Given the description of an element on the screen output the (x, y) to click on. 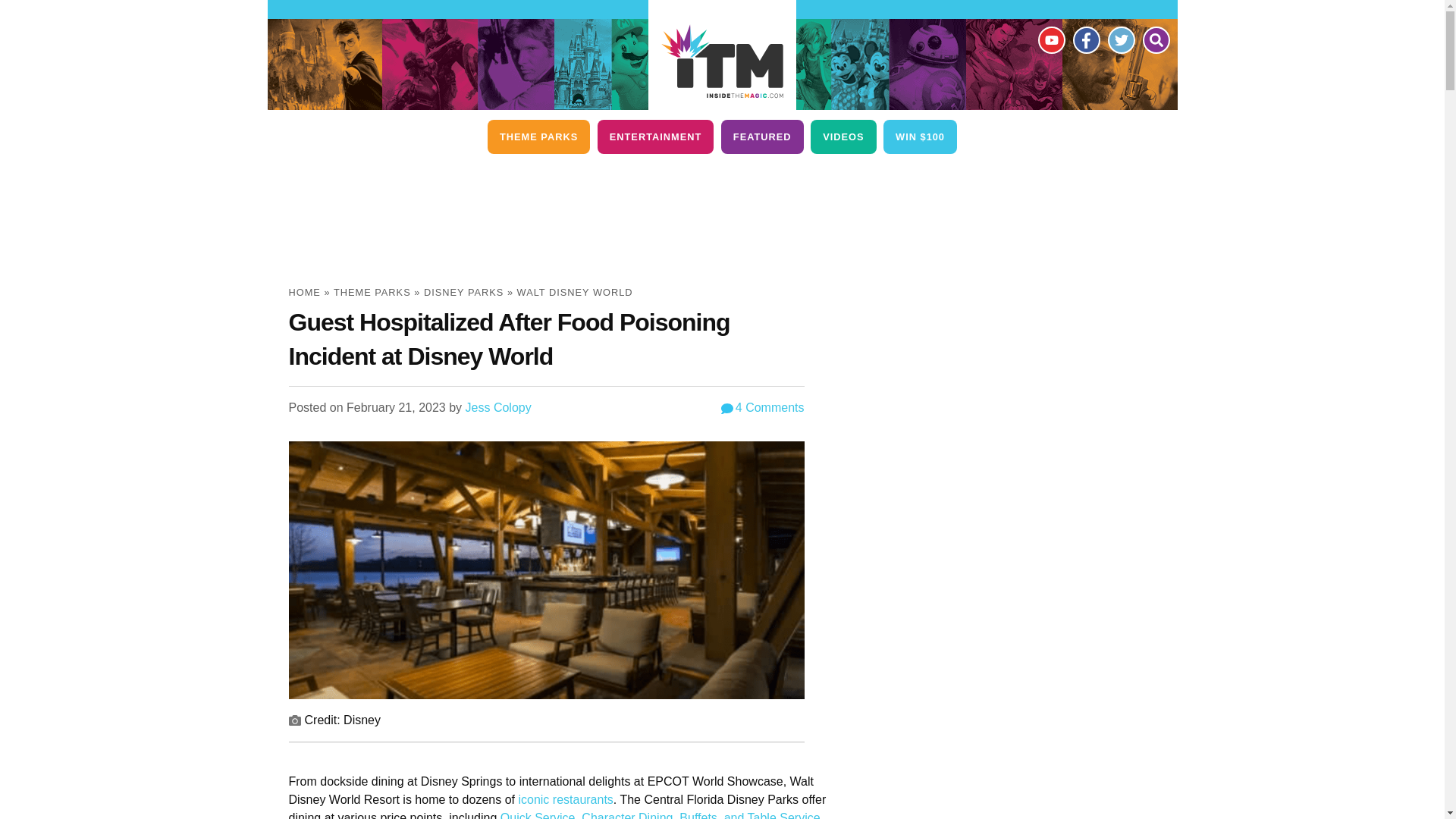
THEME PARKS (538, 136)
YouTube (1050, 40)
Twitter (1120, 40)
FEATURED (761, 136)
Facebook (1085, 40)
Search (1155, 40)
ENTERTAINMENT (655, 136)
